Given the description of an element on the screen output the (x, y) to click on. 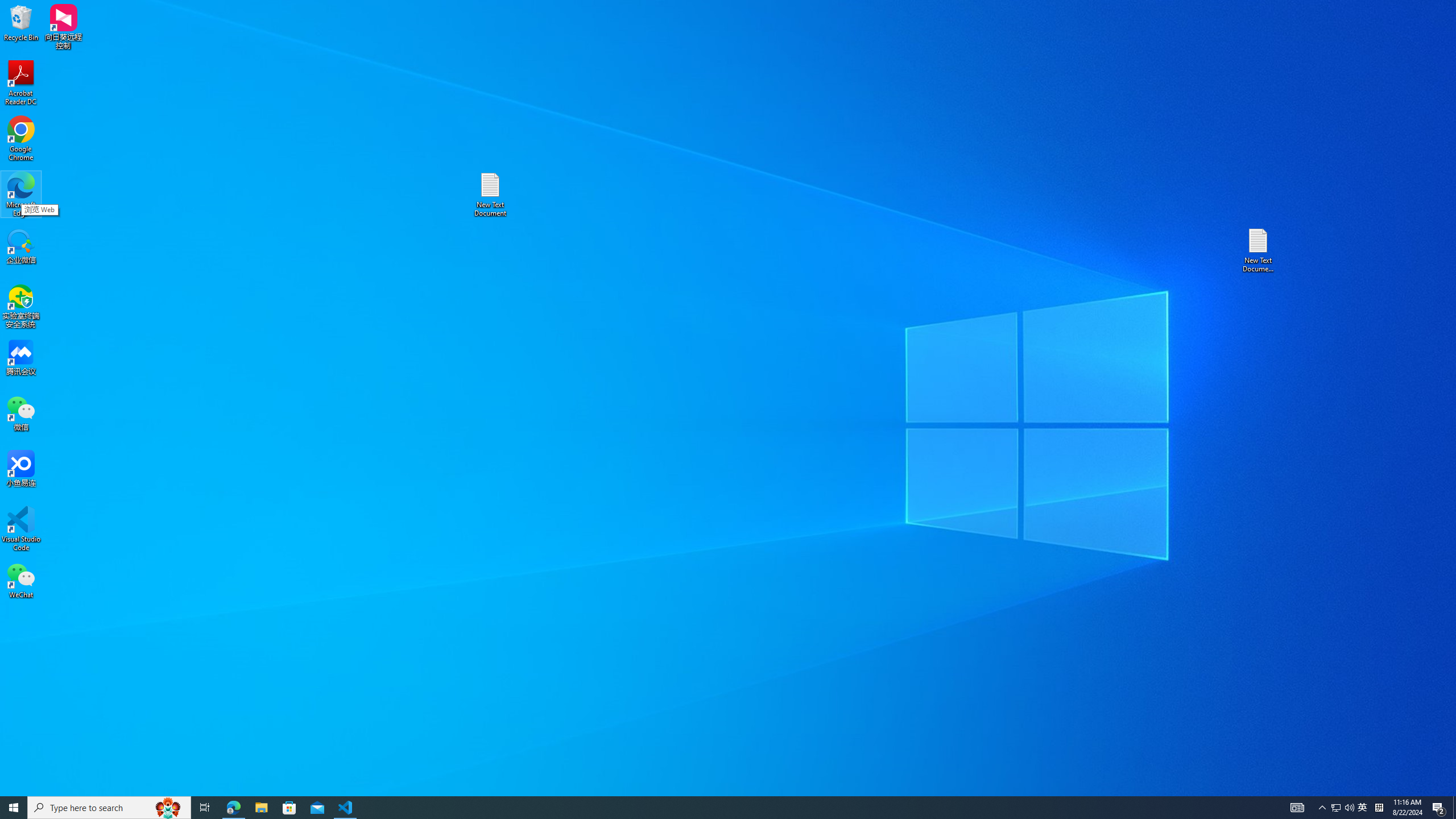
Microsoft Edge (1362, 807)
Google Chrome (21, 194)
